Given the description of an element on the screen output the (x, y) to click on. 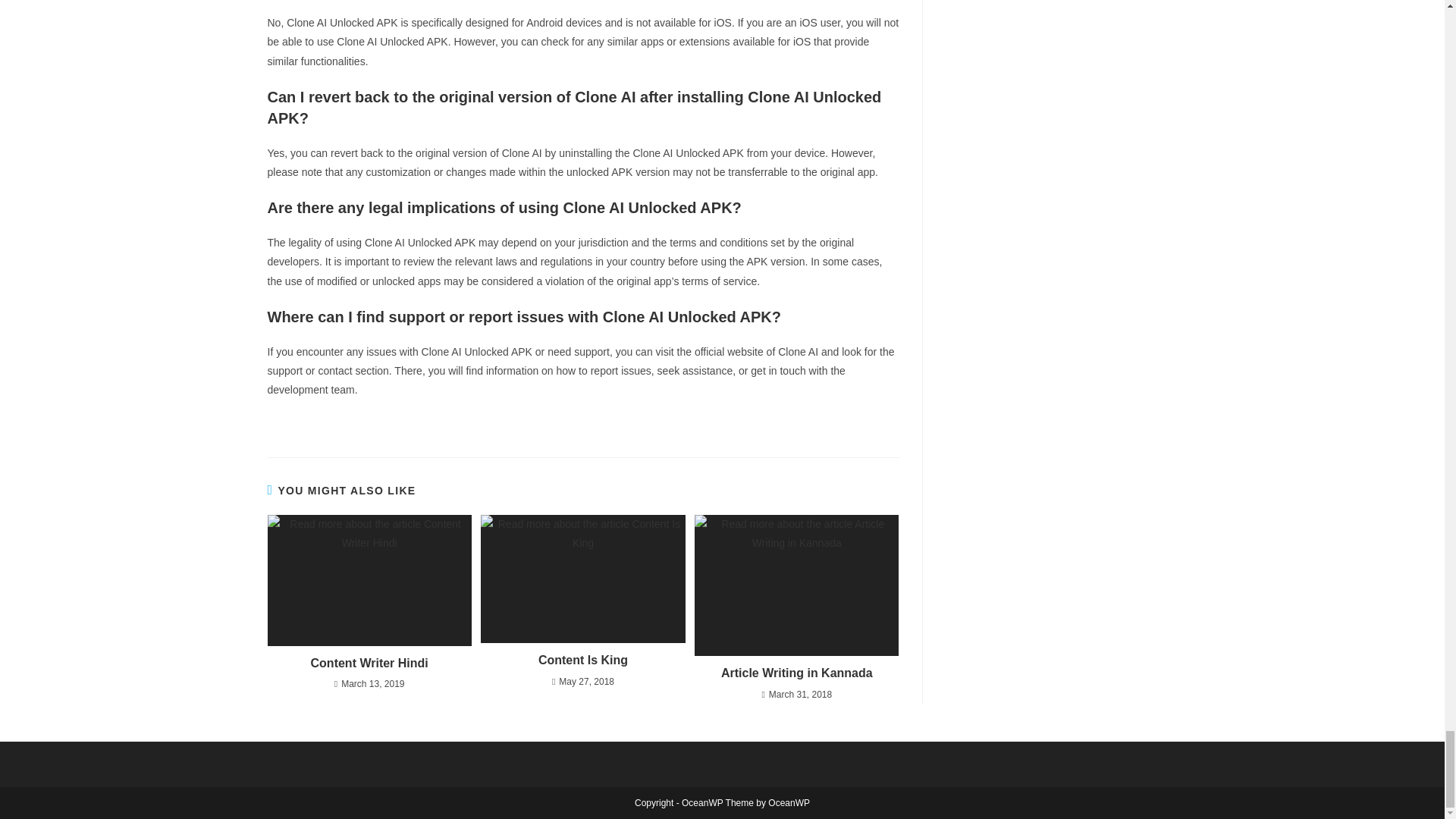
Content Writer Hindi (368, 663)
Content Is King (582, 660)
Article Writing in Kannada (796, 673)
